Given the description of an element on the screen output the (x, y) to click on. 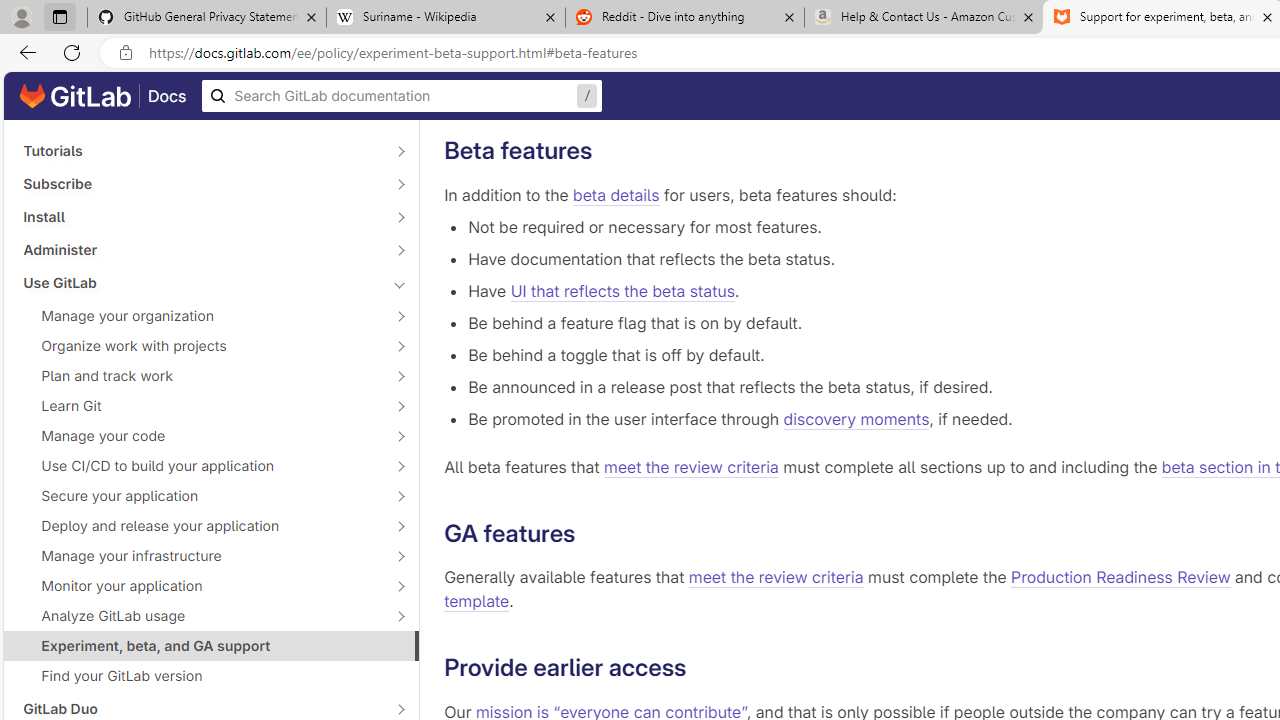
Reddit - Dive into anything (684, 17)
Permalink (702, 668)
Suriname - Wikipedia (445, 17)
GitHub General Privacy Statement - GitHub Docs (207, 17)
meet the review criteria (776, 577)
Tutorials (199, 151)
Monitor your application (199, 585)
beta details (616, 194)
